Given the description of an element on the screen output the (x, y) to click on. 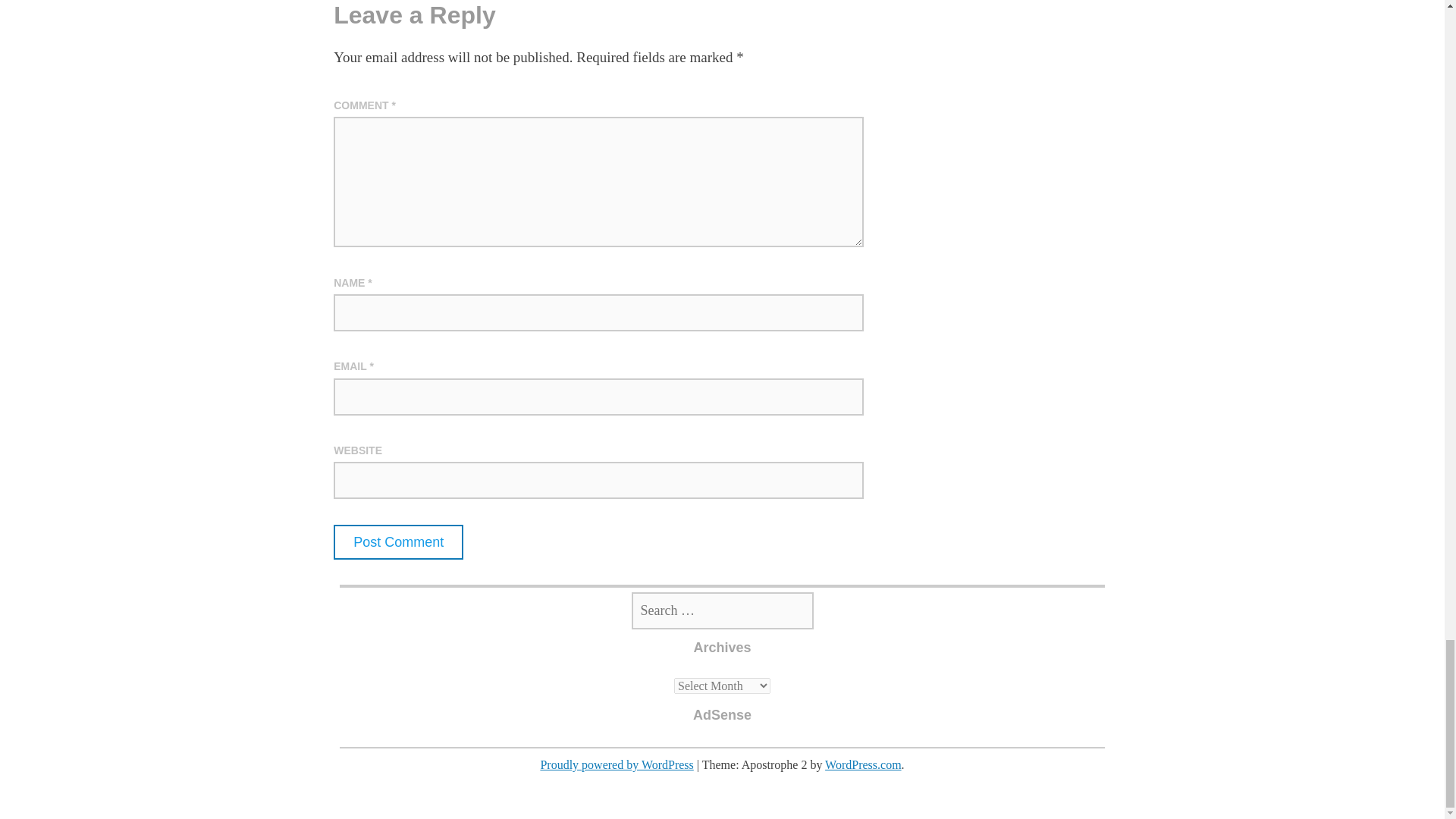
Post Comment (398, 541)
